Given the description of an element on the screen output the (x, y) to click on. 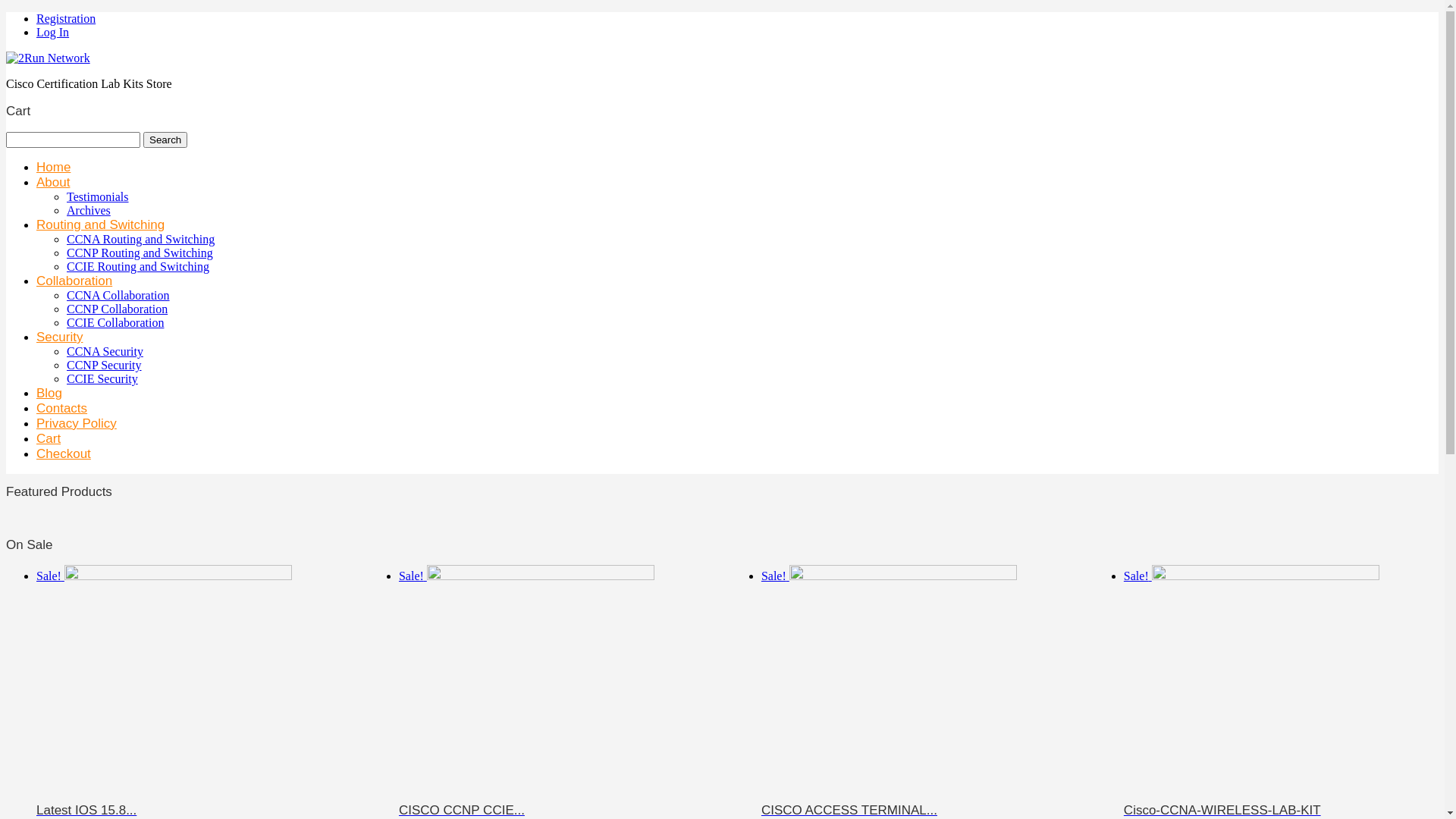
CCNP Routing and Switching Element type: text (139, 252)
Checkout Element type: text (63, 453)
CCIE Collaboration Element type: text (114, 322)
Contacts Element type: text (61, 408)
Routing and Switching Element type: text (100, 224)
Blog Element type: text (49, 392)
Log In Element type: text (52, 31)
CCNA Collaboration Element type: text (117, 294)
Cart Element type: text (48, 438)
Security Element type: text (59, 336)
Archives Element type: text (88, 209)
Sale!
Latest IOS 15.8... Element type: text (190, 691)
Registration Element type: text (65, 18)
About Element type: text (52, 182)
Privacy Policy Element type: text (76, 423)
CCNP Collaboration Element type: text (116, 308)
Sale!
CISCO ACCESS TERMINAL... Element type: text (915, 691)
CCIE Security Element type: text (102, 378)
Home Element type: text (53, 167)
CCNA Security Element type: text (104, 351)
Collaboration Element type: text (74, 280)
CCNA Routing and Switching Element type: text (140, 238)
Search Element type: text (165, 139)
Sale!
CISCO CCNP CCIE... Element type: text (553, 691)
Testimonials Element type: text (97, 196)
CCNP Security Element type: text (103, 364)
Sale!
Cisco-CCNA-WIRELESS-LAB-KIT Element type: text (1278, 691)
CCIE Routing and Switching Element type: text (137, 266)
Cisco Certification Lab Kits Store Element type: hover (48, 58)
